Given the description of an element on the screen output the (x, y) to click on. 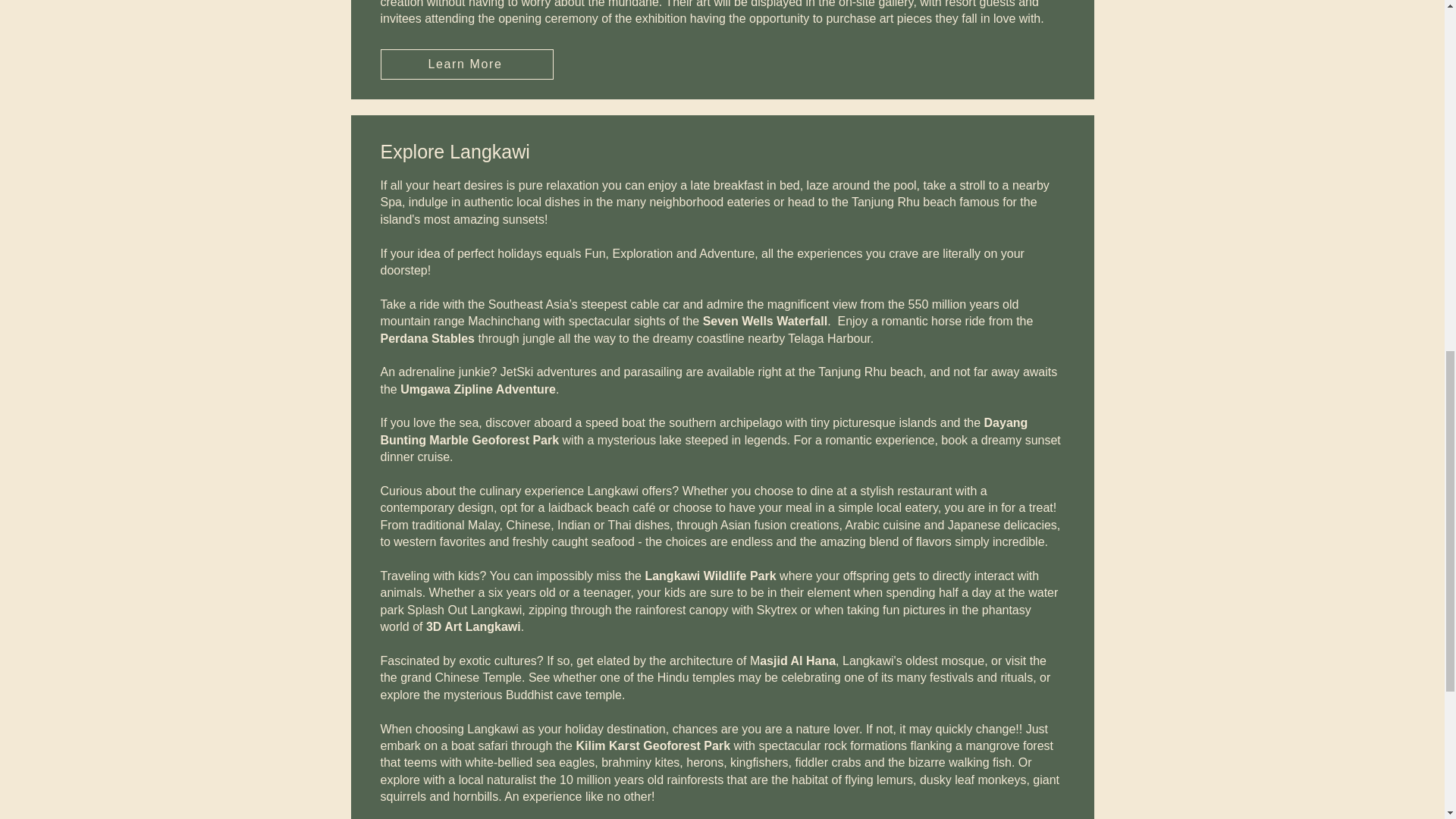
Learn More (466, 64)
